Given the description of an element on the screen output the (x, y) to click on. 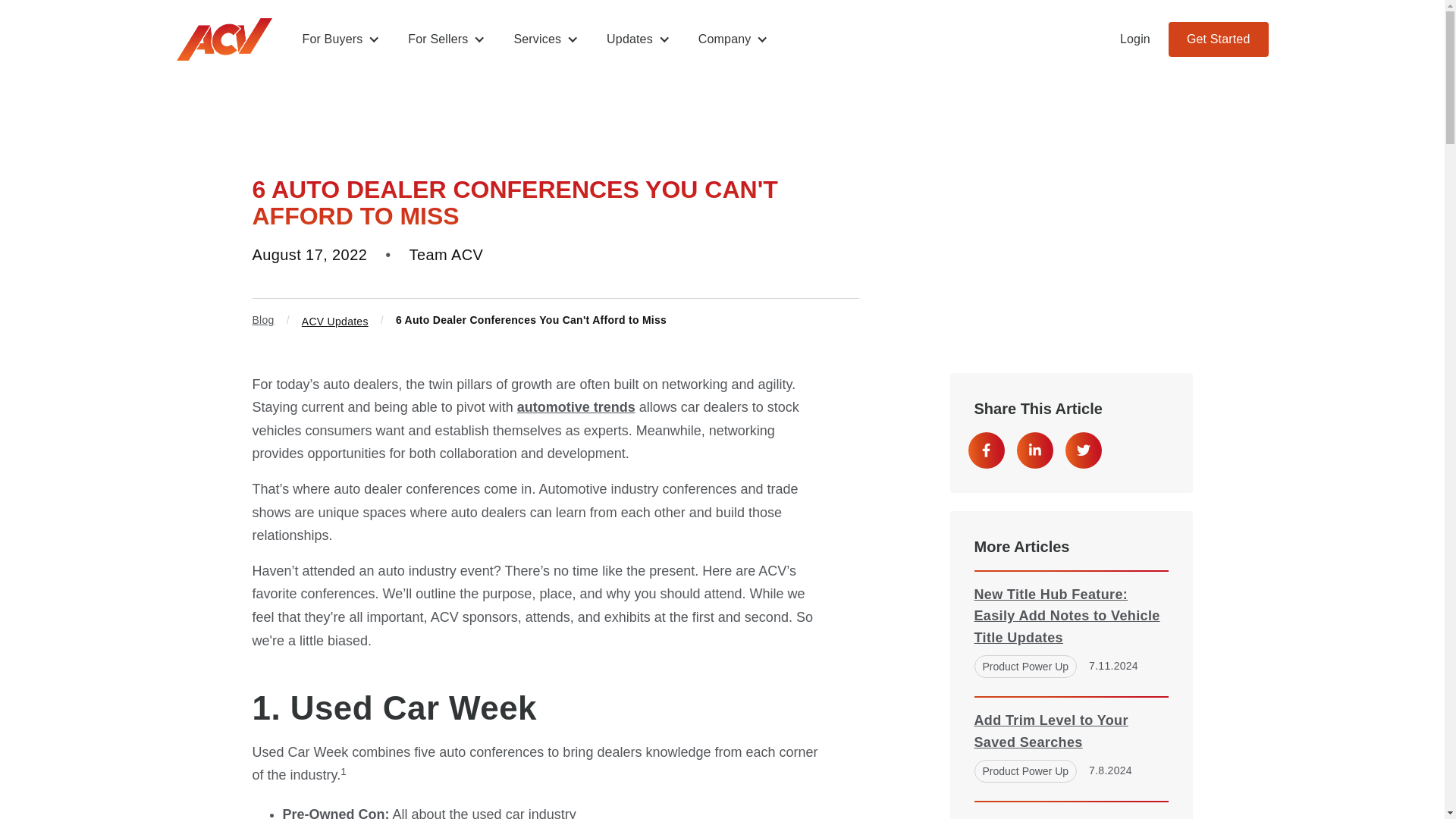
Login (1135, 39)
Get Started (1218, 39)
